Given the description of an element on the screen output the (x, y) to click on. 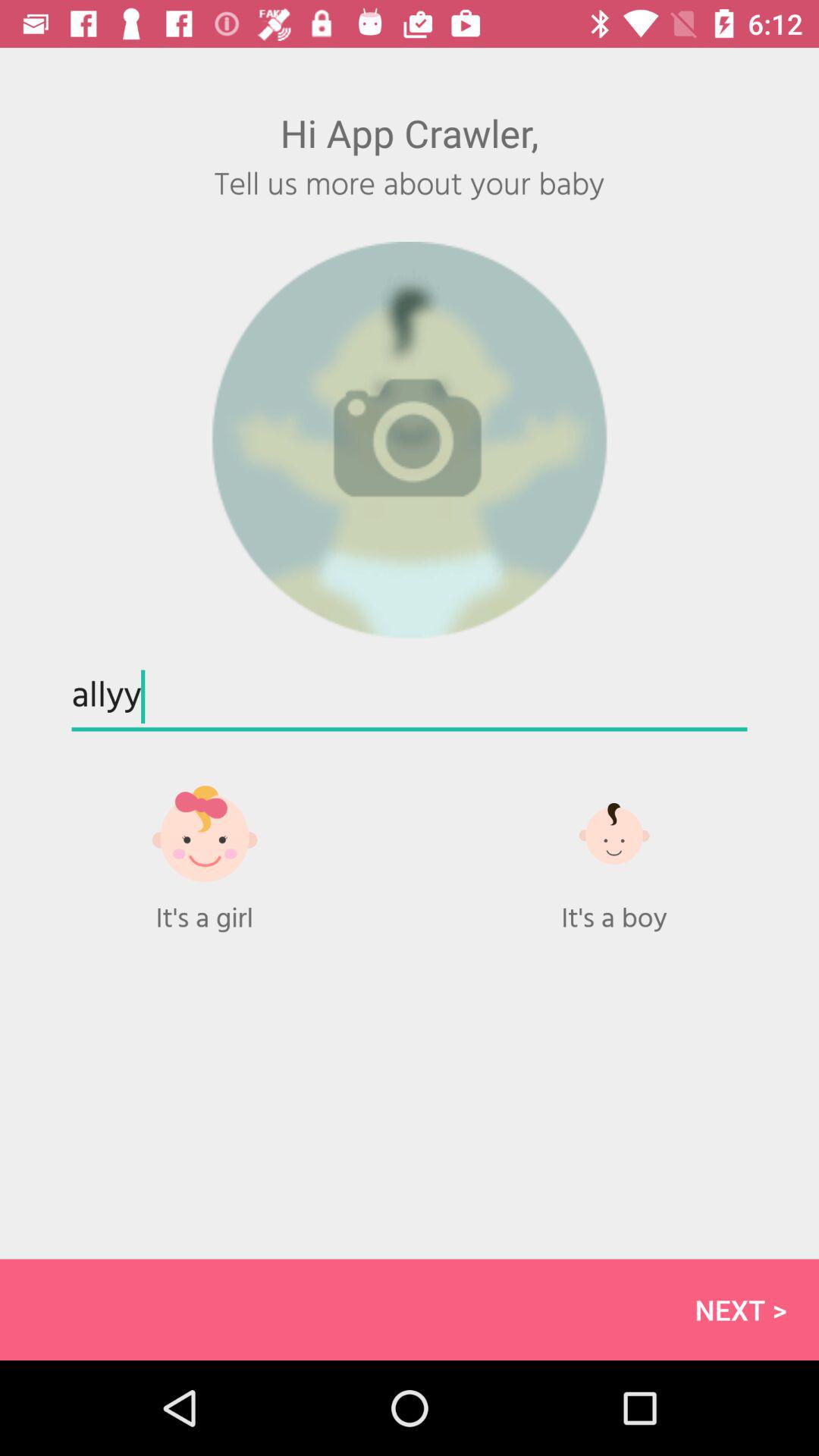
choose item below the it s a item (409, 1309)
